Given the description of an element on the screen output the (x, y) to click on. 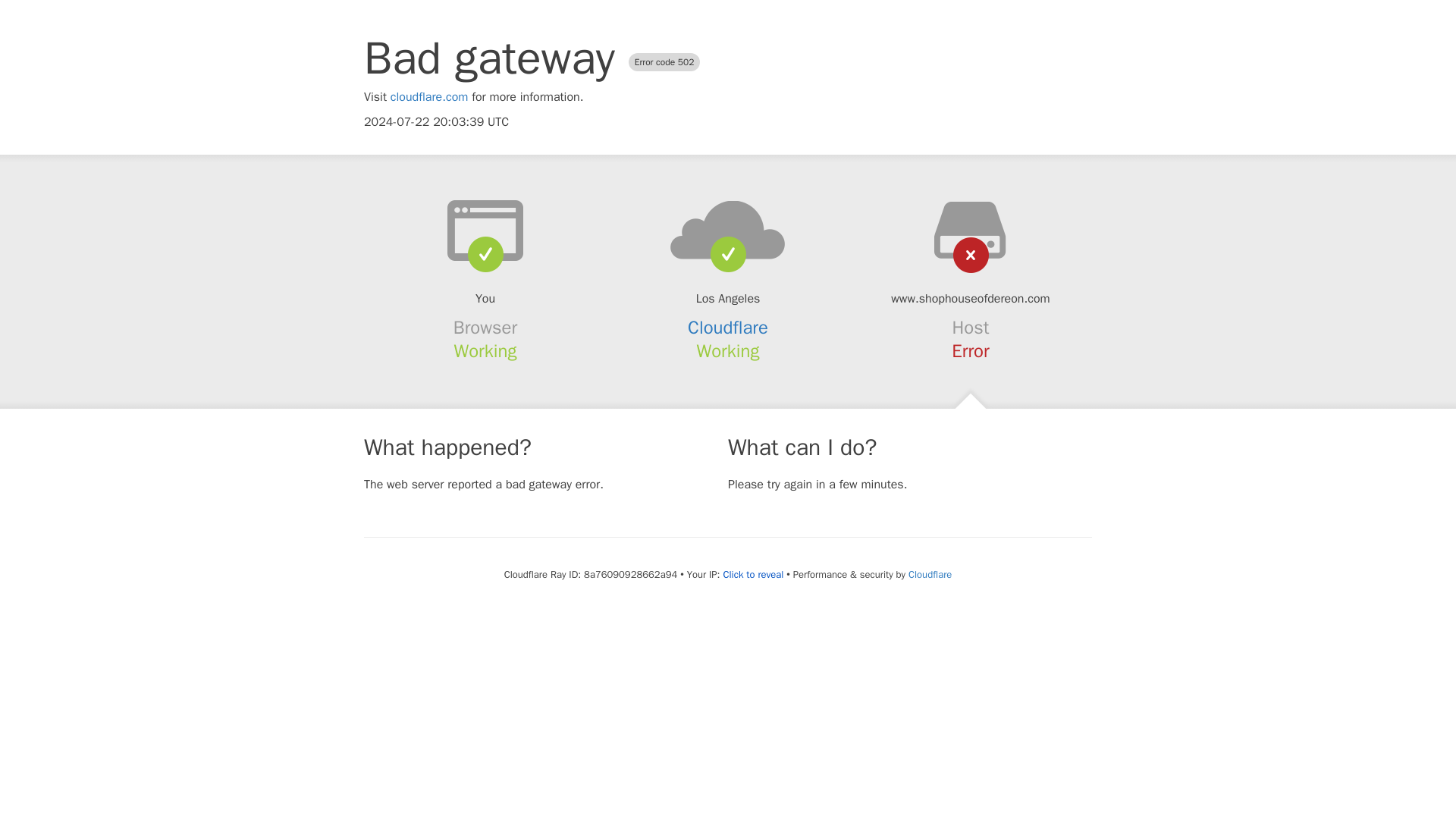
Cloudflare (727, 327)
cloudflare.com (429, 96)
Click to reveal (752, 574)
Cloudflare (930, 574)
